Given the description of an element on the screen output the (x, y) to click on. 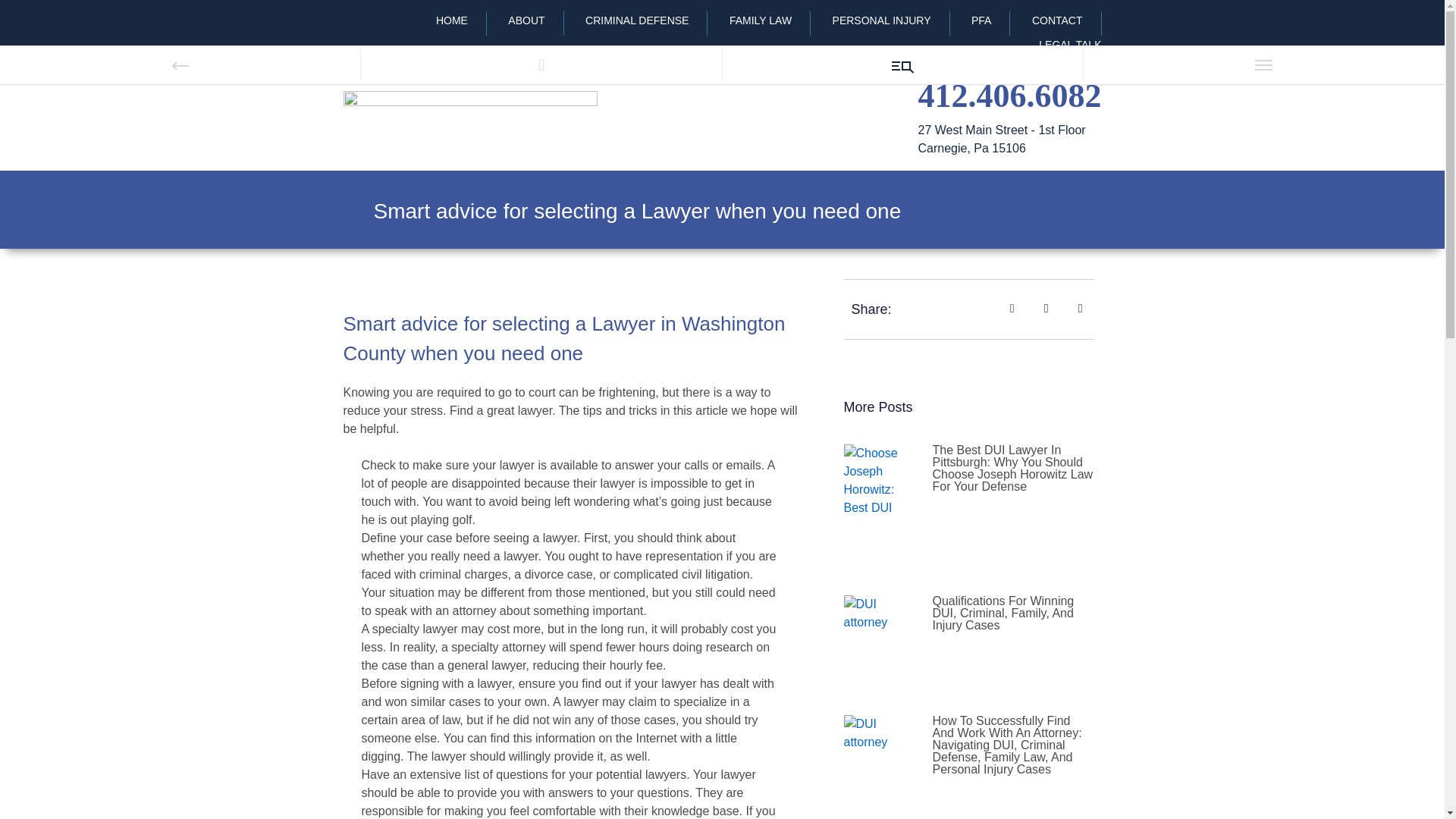
ABOUT (525, 20)
PERSONAL INJURY (881, 20)
CRIMINAL DEFENSE (636, 20)
PFA (981, 20)
CONTACT (1056, 20)
FAMILY LAW (760, 20)
HOME (451, 20)
LEGAL TALK (1060, 45)
